Given the description of an element on the screen output the (x, y) to click on. 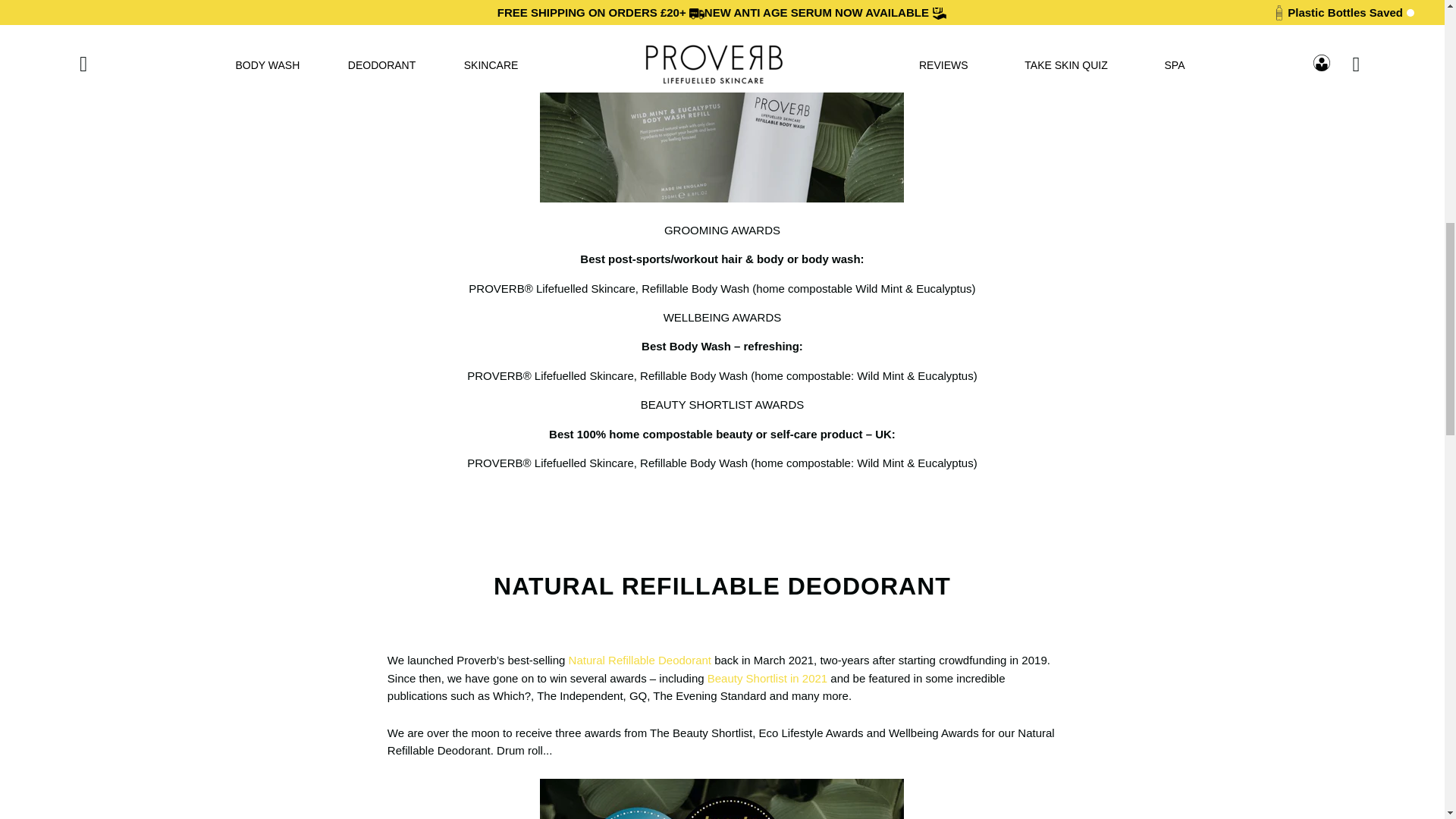
Proverb winning beauty shortlist award 2021 (767, 677)
natural refillable deodorant (640, 659)
